Given the description of an element on the screen output the (x, y) to click on. 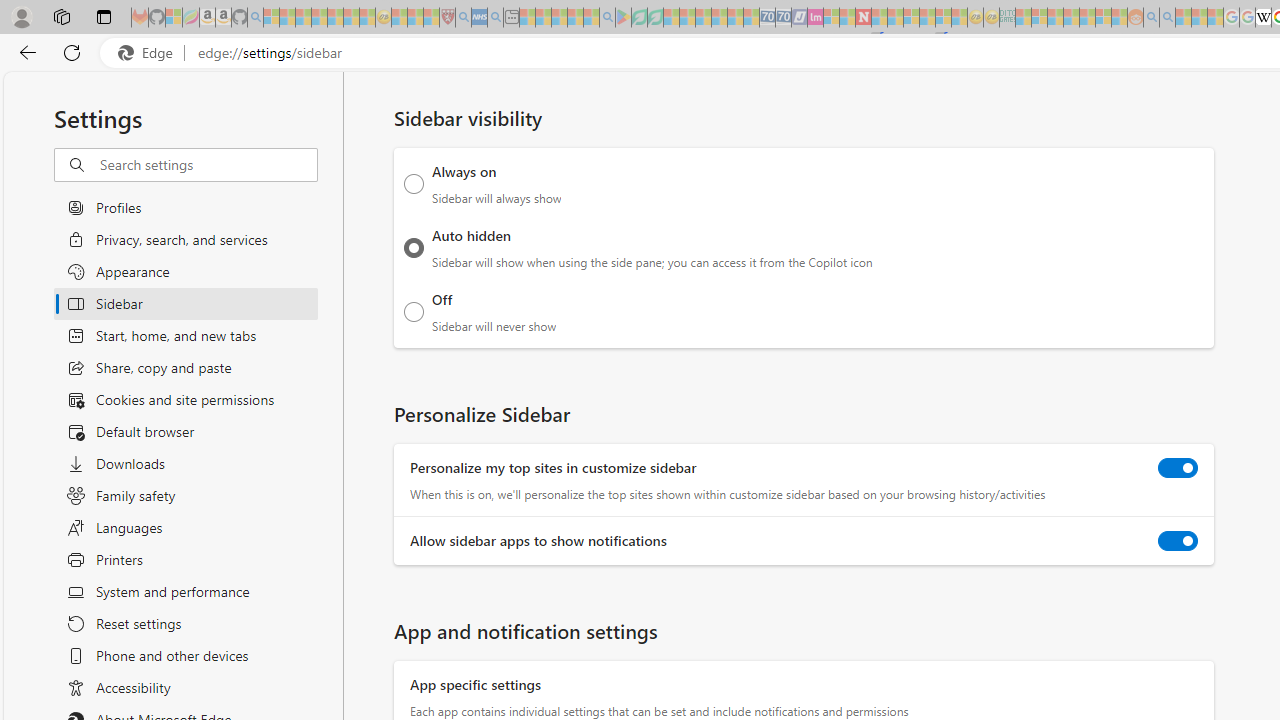
Latest Politics News & Archive | Newsweek.com - Sleeping (863, 17)
Always on Sidebar will always show (413, 183)
Target page - Wikipedia (1263, 17)
google - Search - Sleeping (607, 17)
New Report Confirms 2023 Was Record Hot | Watch - Sleeping (335, 17)
Kinda Frugal - MSN - Sleeping (1087, 17)
